Given the description of an element on the screen output the (x, y) to click on. 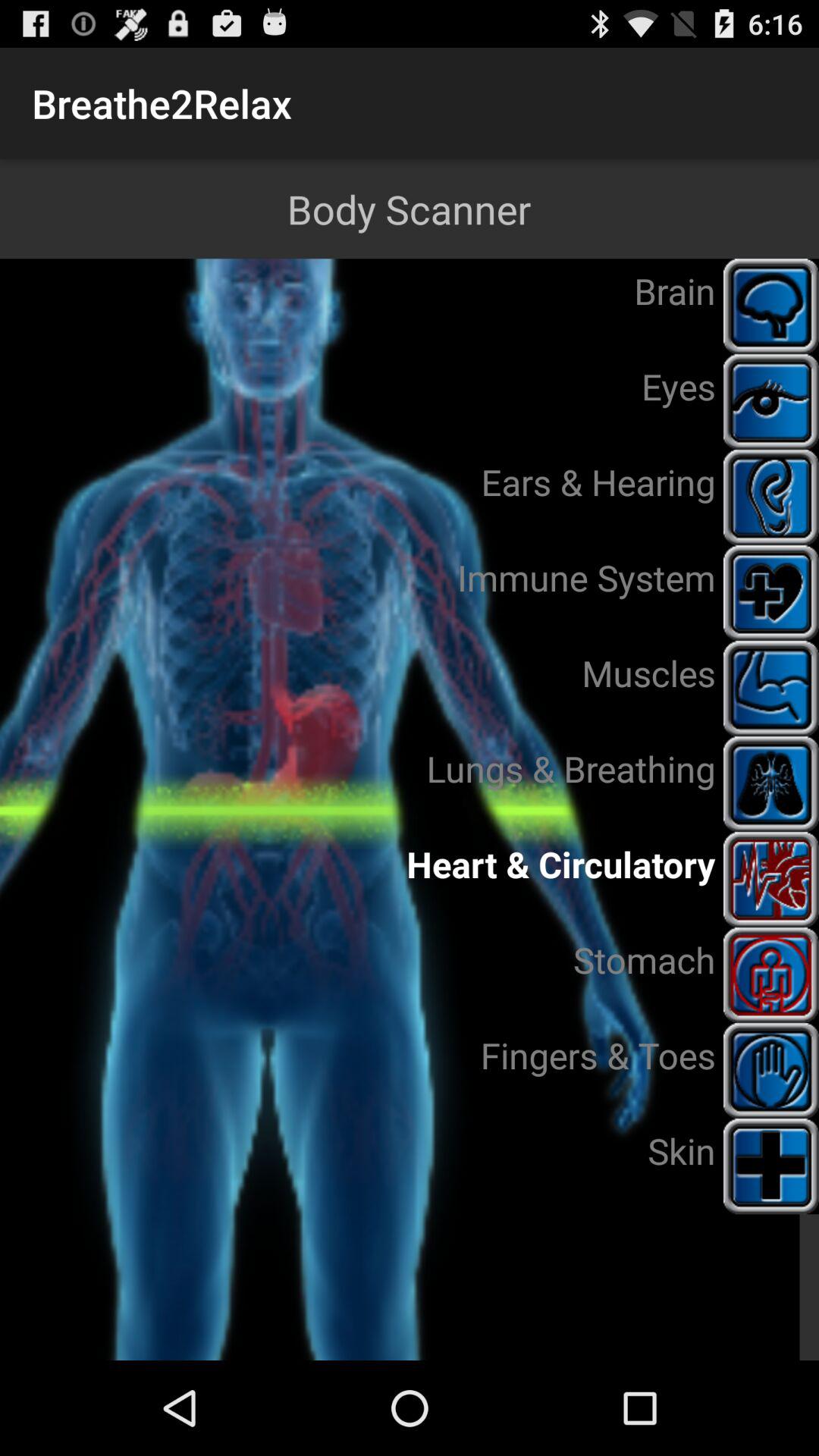
select the immune system icon (771, 592)
select the heart  circulatory icon (771, 879)
select the 2nd image (771, 401)
select the hand (771, 1070)
click on the skin icon (771, 1166)
click on the muscles icon (771, 688)
